Given the description of an element on the screen output the (x, y) to click on. 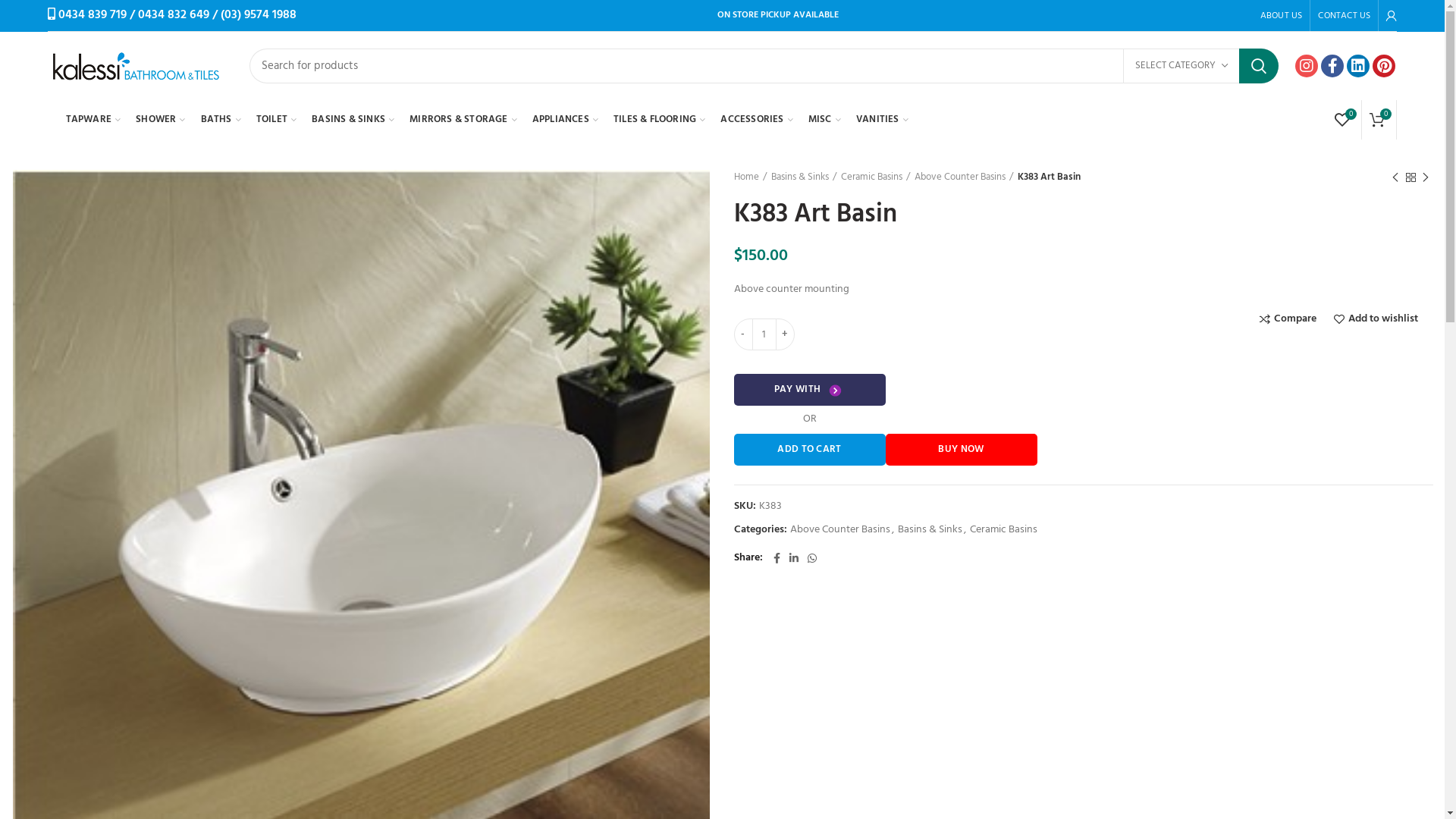
SEARCH Element type: text (1258, 65)
ABOUT US Element type: text (1281, 15)
PAY WITH Element type: text (809, 389)
0 Element type: text (1342, 119)
linkend Element type: hover (1357, 65)
(03) 9574 1988 Element type: text (258, 15)
APPLIANCES Element type: text (564, 119)
0434 839 719 Element type: text (92, 15)
linkend Element type: hover (1358, 65)
TILES & FLOORING Element type: text (658, 119)
TAPWARE Element type: text (93, 119)
linkedin Element type: text (793, 557)
pinterest Element type: hover (1383, 65)
Facebook Element type: text (776, 557)
pinterest Element type: hover (1384, 65)
Qty Element type: hover (763, 334)
VANITIES Element type: text (882, 119)
Basins & Sinks Element type: text (929, 530)
instagram Element type: hover (1306, 65)
CONTACT US Element type: text (1343, 15)
BATHS Element type: text (220, 119)
Basins & Sinks Element type: text (802, 177)
Above Counter Basins Element type: text (963, 177)
Home Element type: text (750, 177)
Next product Element type: text (1425, 177)
BUY NOW Element type: text (961, 449)
ACCESSORIES Element type: text (756, 119)
BASINS & SINKS Element type: text (352, 119)
Previous product Element type: text (1394, 177)
Add to wishlist Element type: text (1375, 318)
TOILET Element type: text (276, 119)
ADD TO CART Element type: text (809, 449)
0434 832 649 / Element type: text (177, 15)
WhatsApp Element type: text (811, 557)
SELECT CATEGORY Element type: text (1181, 65)
instagram Element type: hover (1306, 65)
Above Counter Basins Element type: text (840, 530)
Ceramic Basins Element type: text (874, 177)
0 Element type: text (1376, 119)
facebook Element type: hover (1332, 65)
facebook Element type: hover (1332, 65)
Ceramic Basins Element type: text (1002, 530)
SHOWER Element type: text (160, 119)
Compare Element type: text (1286, 318)
MIRRORS & STORAGE Element type: text (462, 119)
My account Element type: hover (1391, 15)
MISC Element type: text (824, 119)
